Given the description of an element on the screen output the (x, y) to click on. 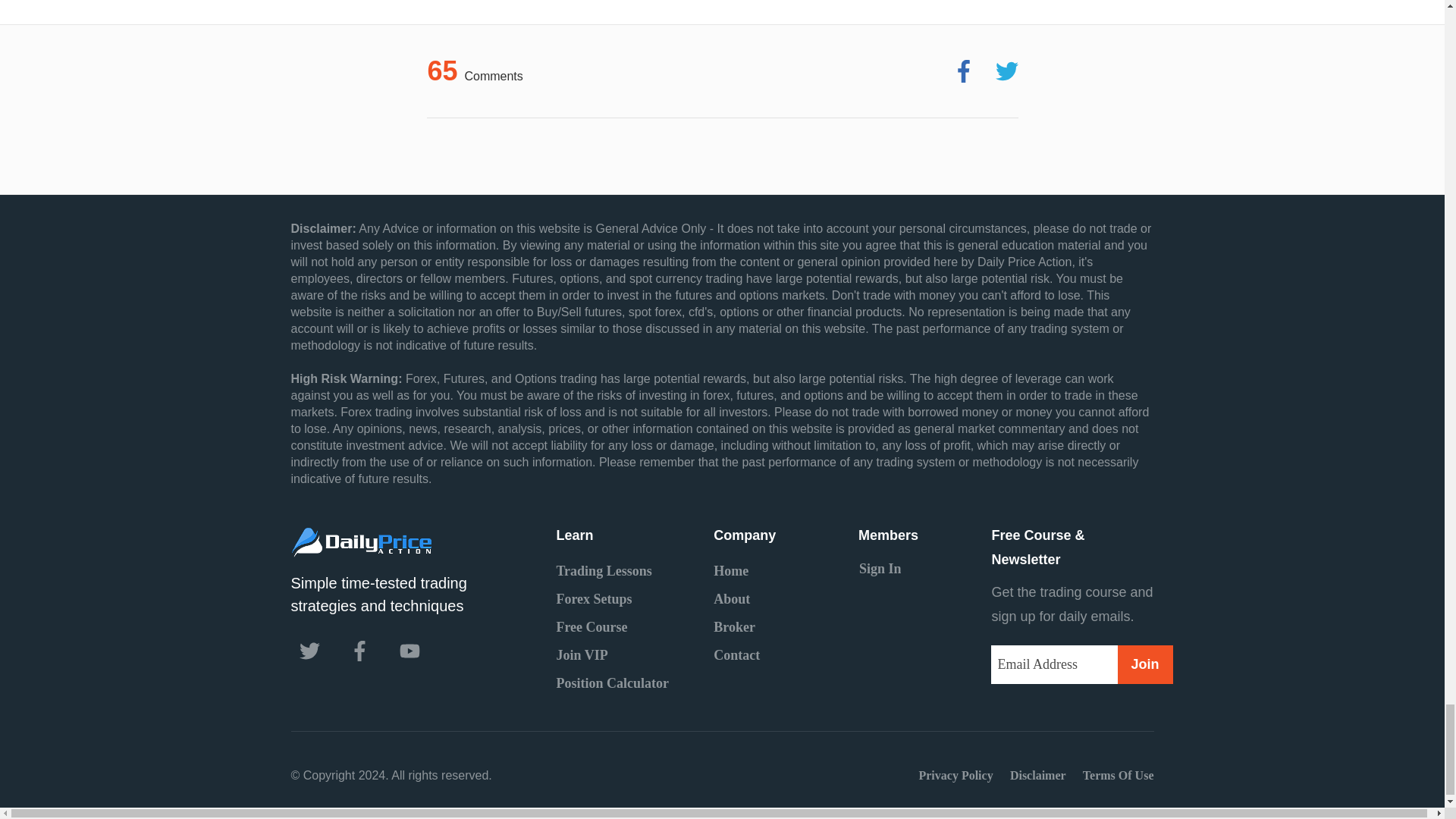
Free Course (591, 626)
Forex Setups (593, 598)
Trading Lessons (603, 570)
